Given the description of an element on the screen output the (x, y) to click on. 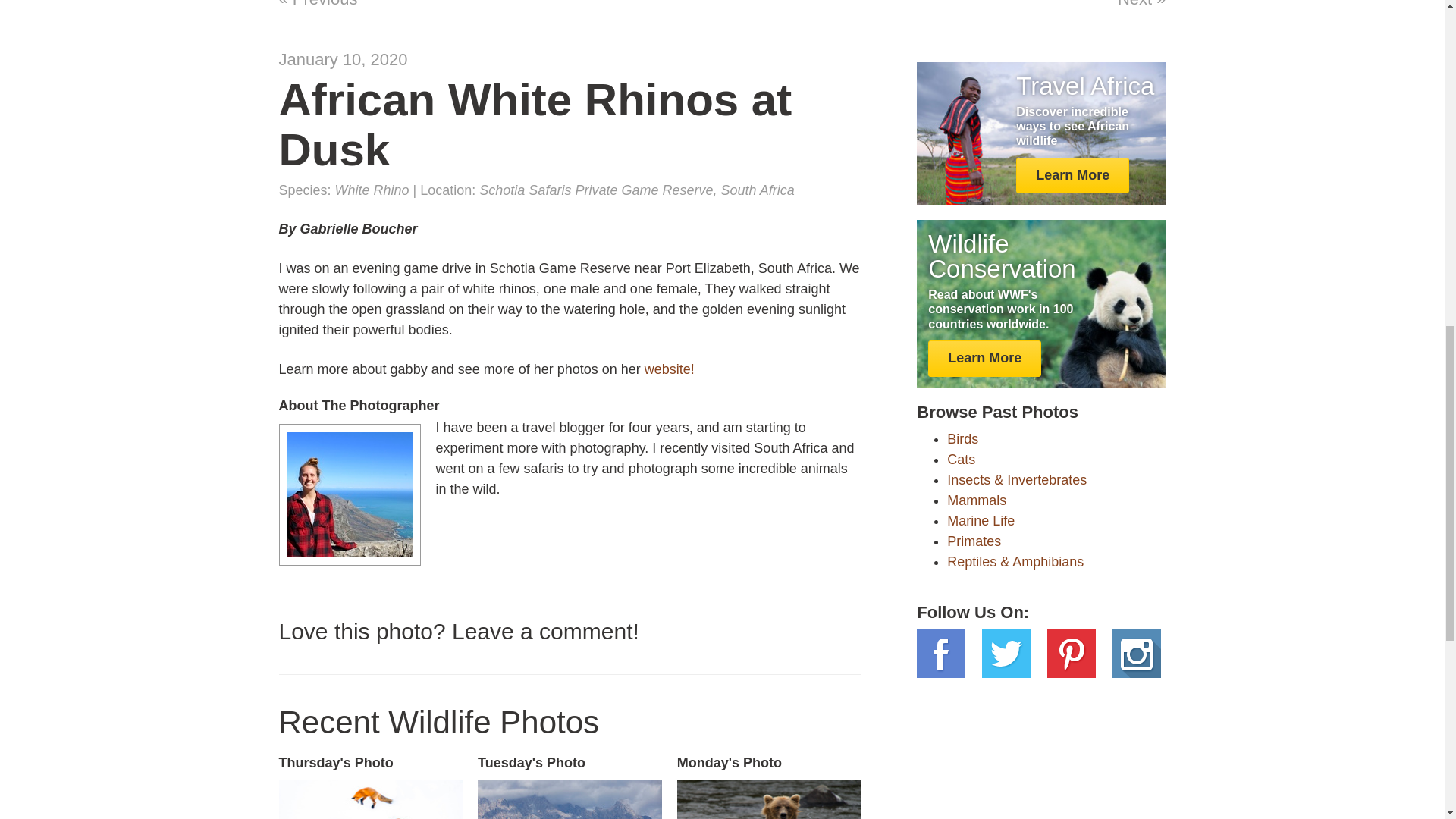
Birds (370, 787)
Learn More (962, 438)
Learn More (984, 358)
Cats (1072, 176)
Marine Life (961, 459)
Primates (980, 520)
Mammals (769, 787)
website! (974, 540)
